Given the description of an element on the screen output the (x, y) to click on. 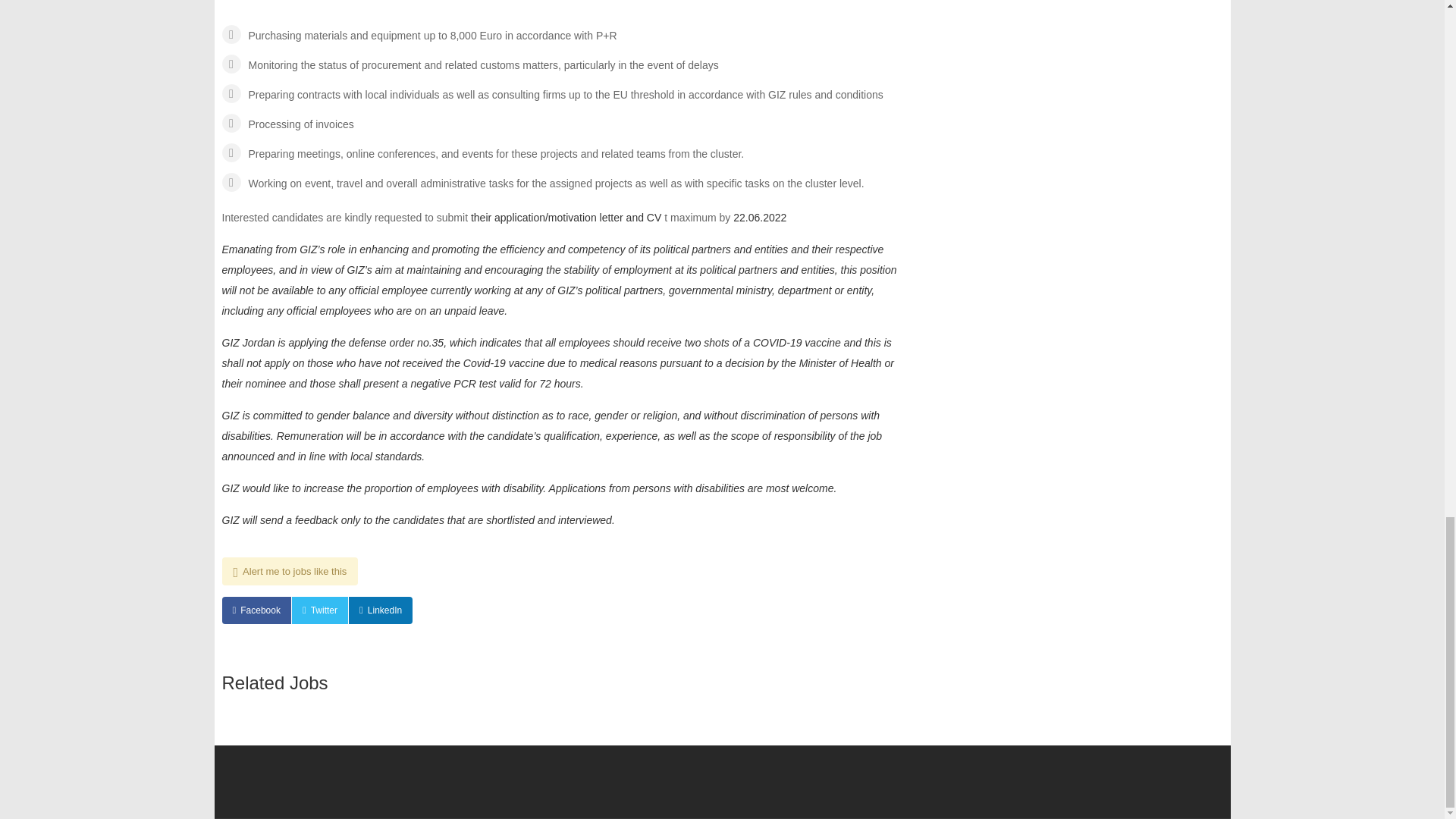
Twitter (319, 610)
Twitter (319, 610)
Facebook (255, 610)
LinkedIn (380, 610)
Alert me to jobs like this (289, 571)
